Given the description of an element on the screen output the (x, y) to click on. 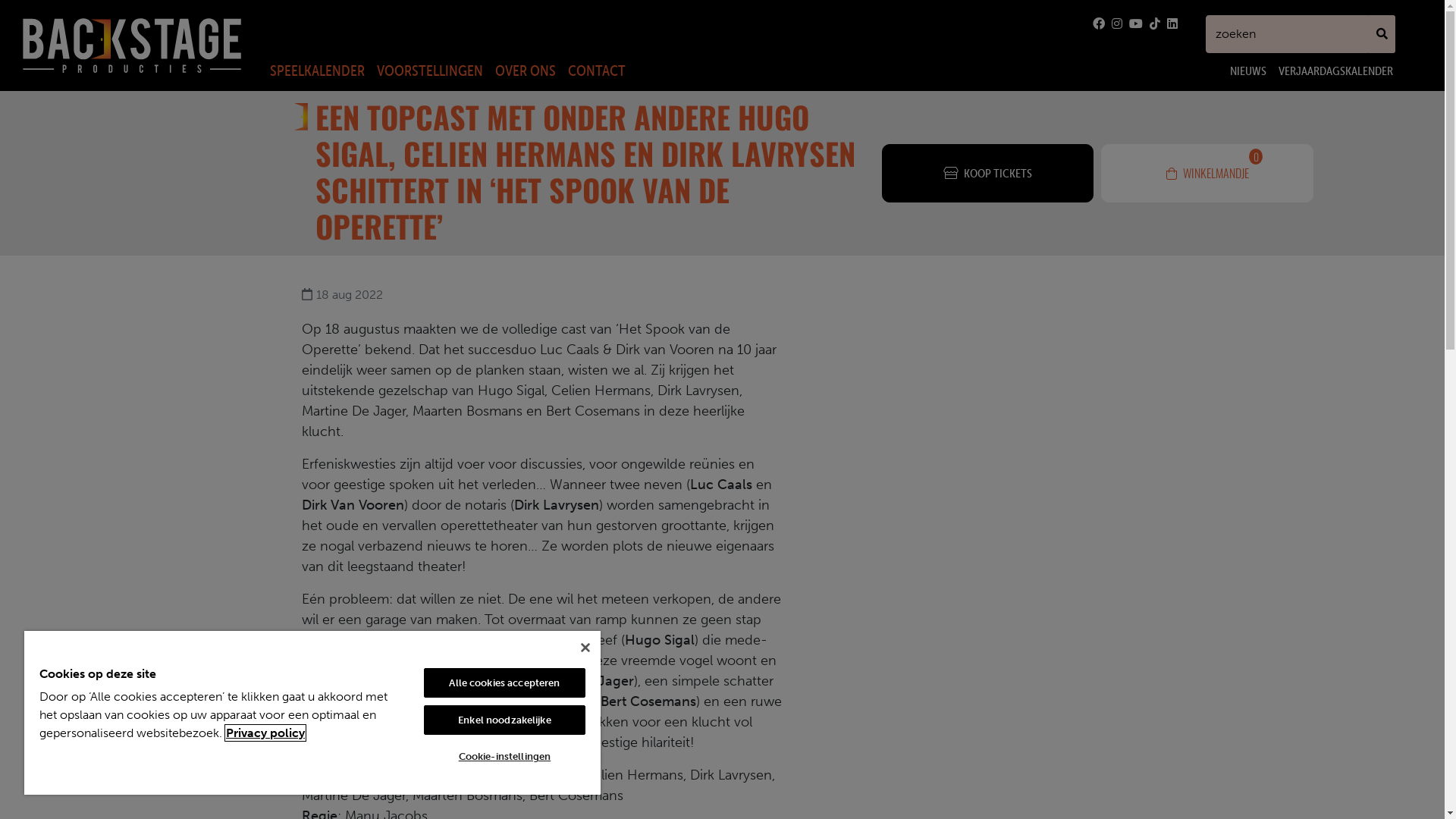
Privacy policy Element type: text (264, 732)
Cookie-instellingen Element type: text (504, 756)
CONTACT Element type: text (596, 70)
Facebook Element type: hover (1099, 23)
LinkedIn Element type: hover (1171, 23)
Enkel noodzakelijke Element type: text (504, 719)
WINKELMANDJE
0 Element type: text (1207, 173)
ZOEKEN Element type: text (1381, 34)
OVER ONS Element type: text (525, 70)
Instagram Element type: hover (1118, 23)
Overslaan en naar de inhoud gaan Element type: text (721, 1)
VERJAARDAGSKALENDER Element type: text (1335, 69)
Alle cookies accepteren Element type: text (504, 682)
KOOP TICKETS Element type: text (987, 173)
Tik Tok Element type: hover (1156, 23)
VOORSTELLINGEN Element type: text (429, 70)
Youtube Element type: hover (1136, 23)
NIEUWS Element type: text (1247, 69)
SPEELKALENDER Element type: text (316, 70)
